Given the description of an element on the screen output the (x, y) to click on. 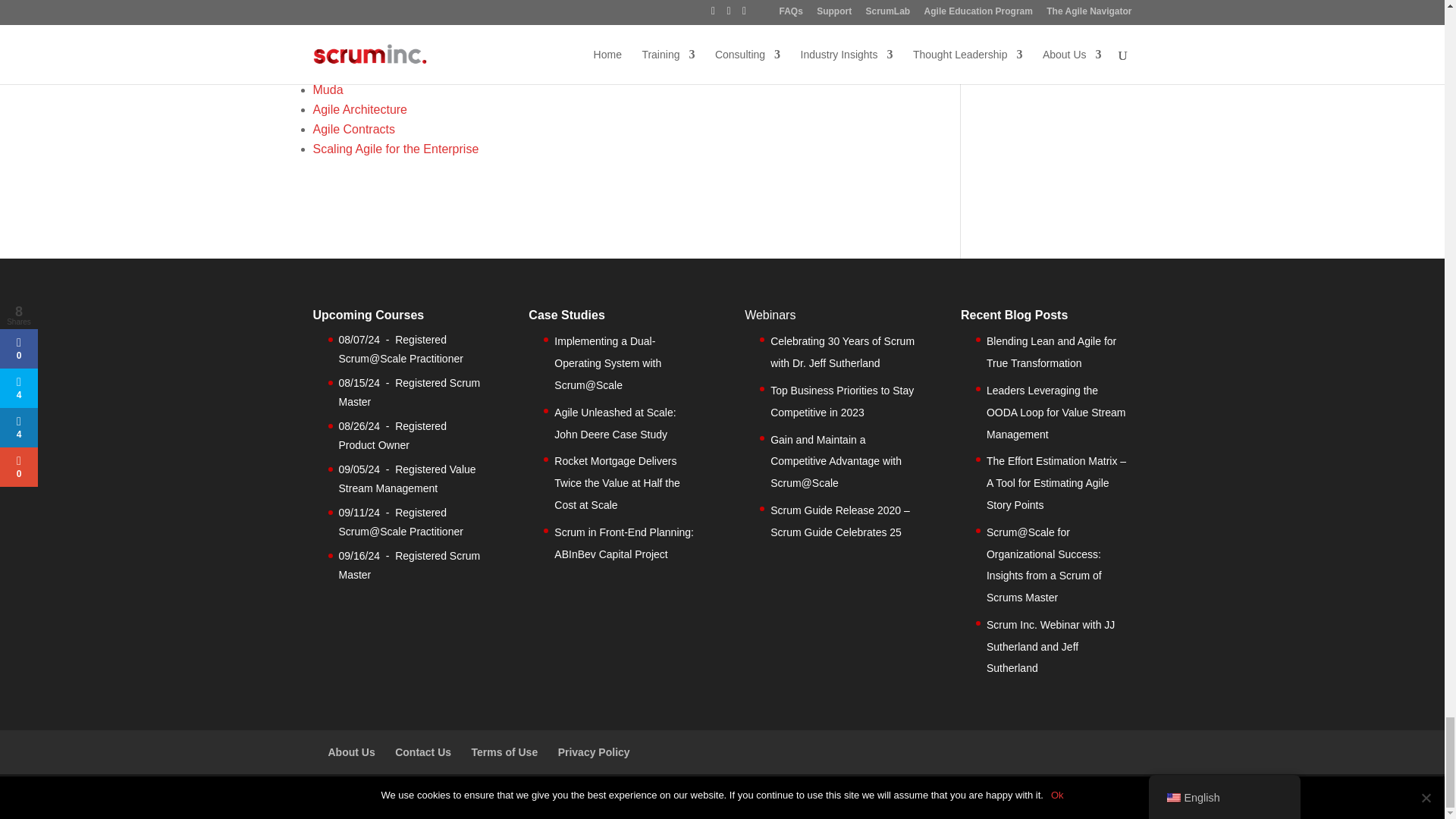
Executive Action Team (373, 50)
Agile Architecture (360, 109)
Agile Contracts (353, 128)
Agile Leadership: Trust vs. Control (405, 30)
Scaling Agile for the Enterprise (396, 148)
Scrum in Sales (353, 69)
Muda (327, 89)
